Given the description of an element on the screen output the (x, y) to click on. 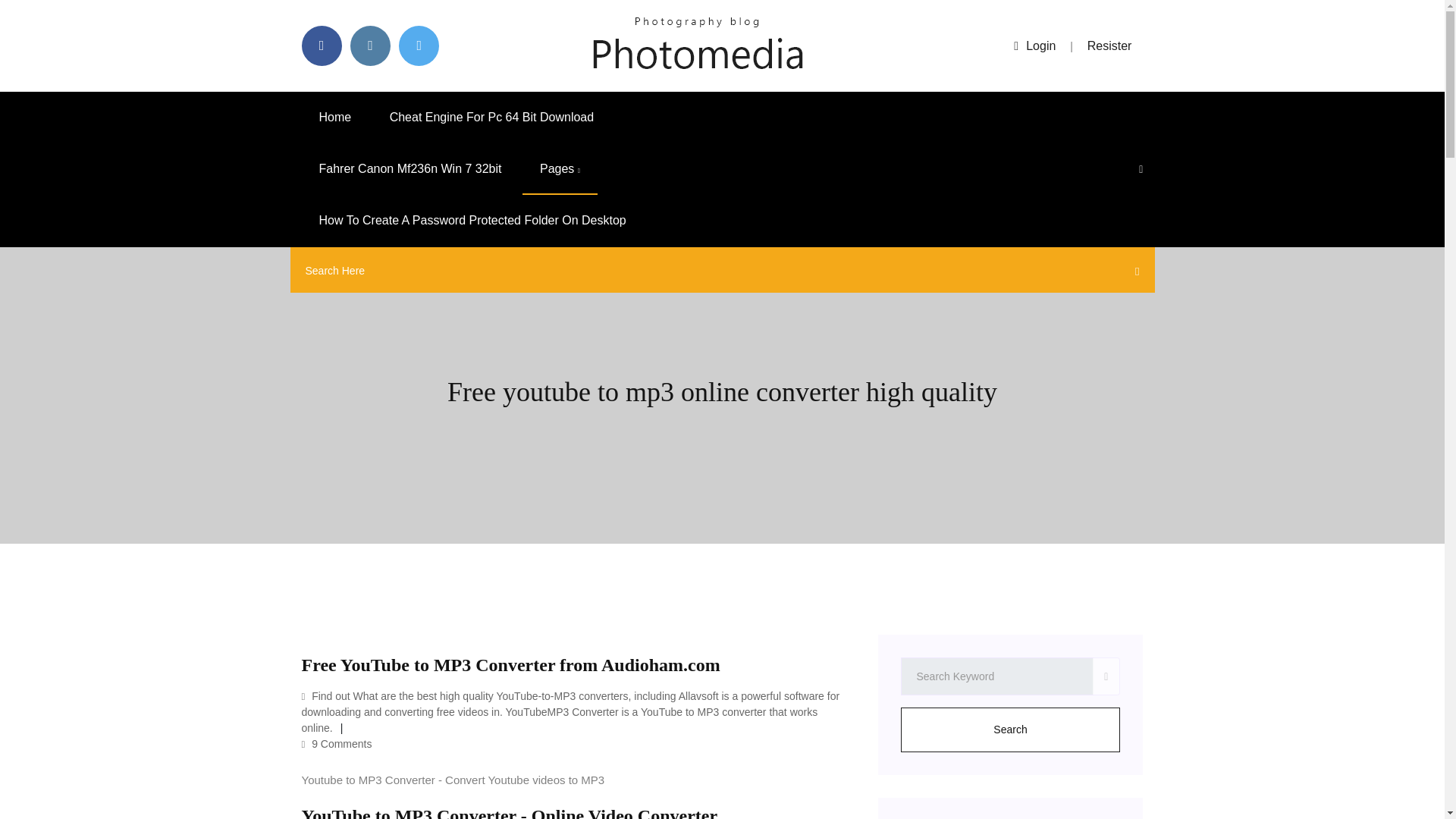
Login (1034, 45)
How To Create A Password Protected Folder On Desktop (472, 220)
Pages (559, 168)
9 Comments (336, 743)
Fahrer Canon Mf236n Win 7 32bit (410, 168)
Resister (1109, 45)
Home (335, 117)
Cheat Engine For Pc 64 Bit Download (491, 117)
